Given the description of an element on the screen output the (x, y) to click on. 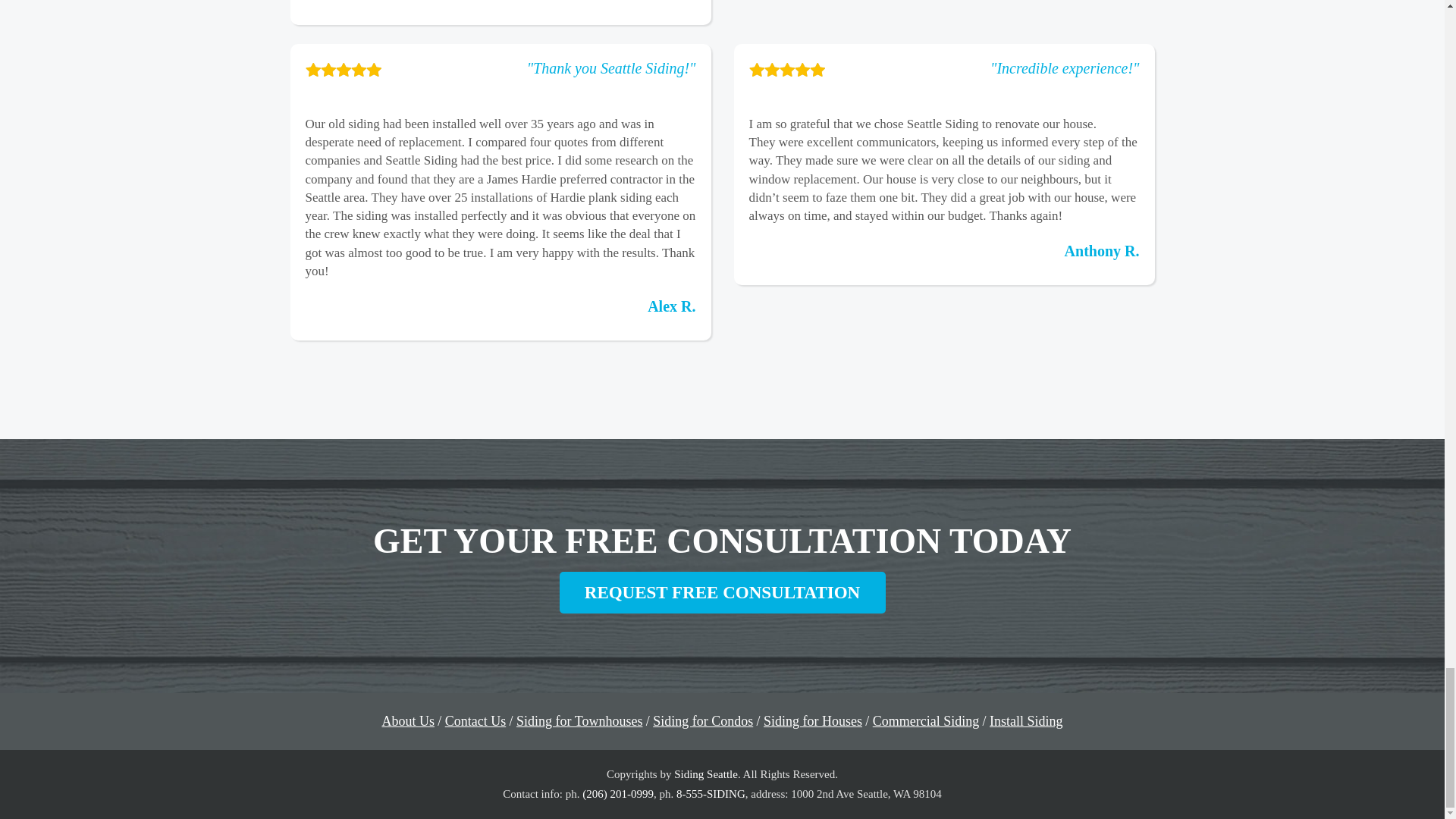
Install Siding (1026, 720)
Siding for Houses (811, 720)
Siding Seattle (706, 774)
Siding for Condos (702, 720)
About Us (407, 720)
Contact Us (475, 720)
Siding for Townhouses (579, 720)
Commercial Siding (925, 720)
8-555-SIDING (711, 793)
